Given the description of an element on the screen output the (x, y) to click on. 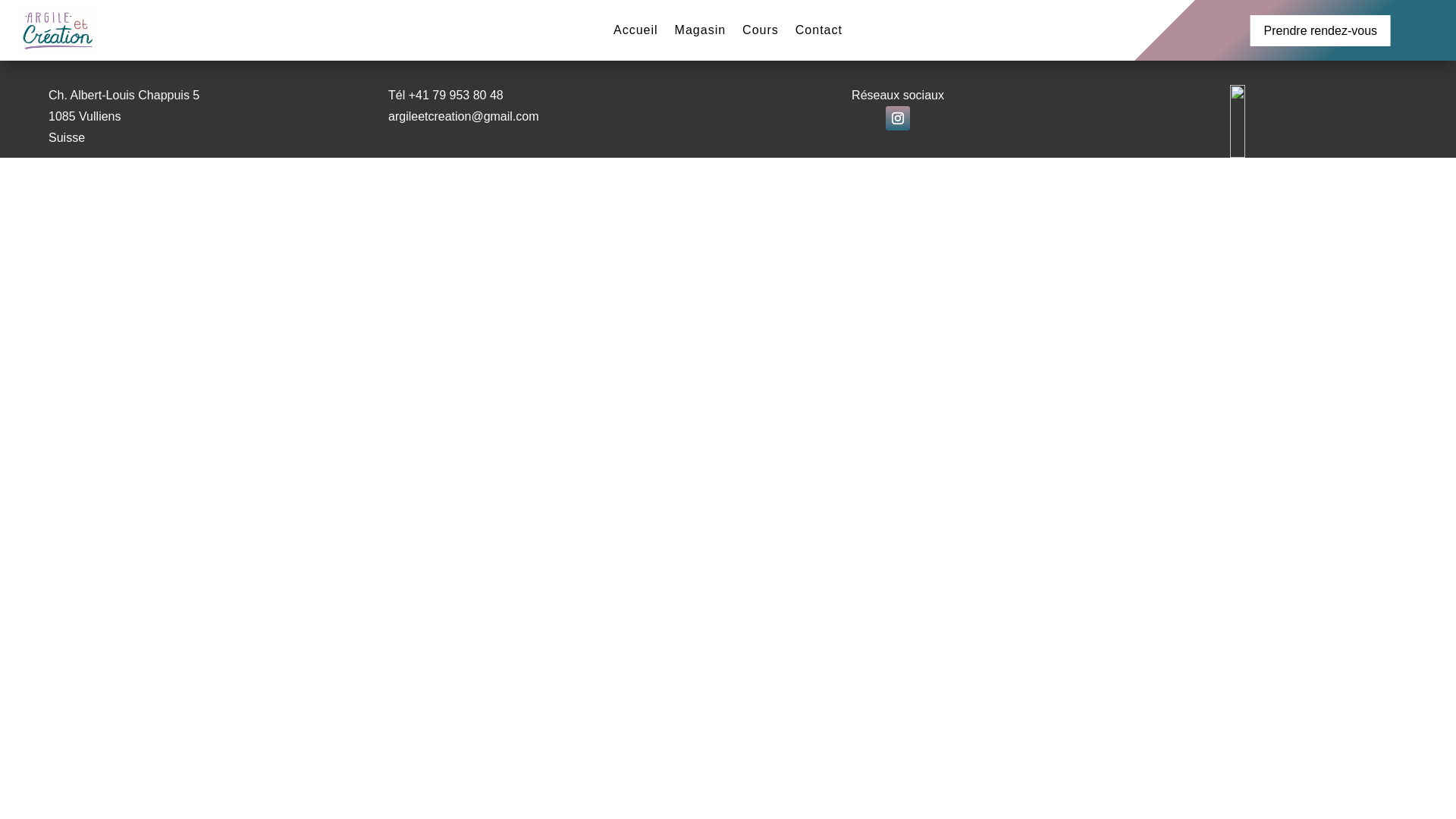
Magasin Element type: text (699, 33)
Prendre rendez-vous Element type: text (1320, 30)
Suivez sur Instagram Element type: hover (897, 118)
logoArgileCreation Element type: hover (57, 30)
logo_argile_creation_transparent Element type: hover (1237, 120)
Cours Element type: text (760, 33)
Accueil Element type: text (635, 33)
Contact Element type: text (818, 33)
